Given the description of an element on the screen output the (x, y) to click on. 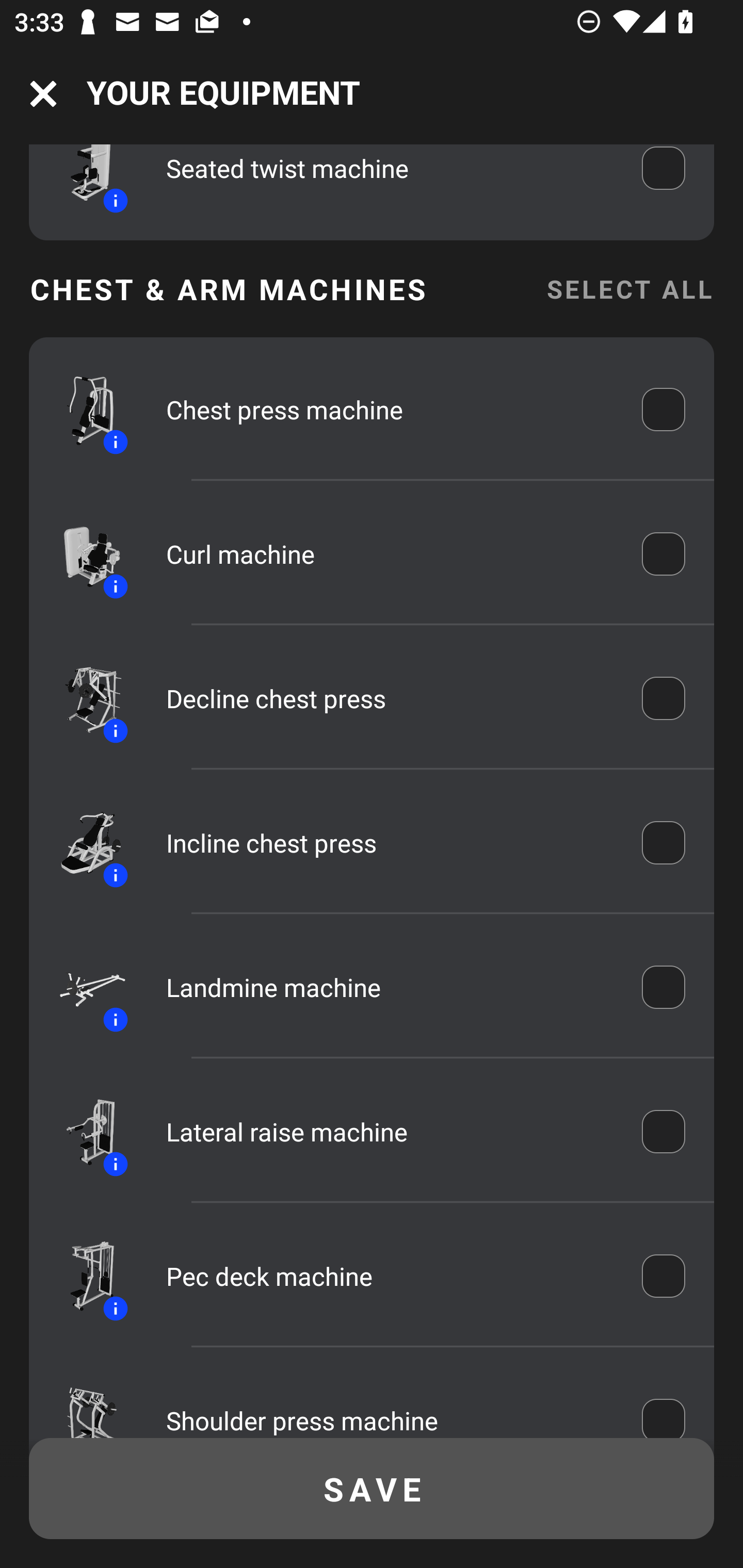
Navigation icon (43, 93)
Equipment icon Information icon (82, 183)
Seated twist machine (389, 177)
SELECT ALL (629, 289)
Equipment icon Information icon (82, 409)
Chest press machine (389, 409)
Equipment icon Information icon (82, 554)
Curl machine (389, 554)
Equipment icon Information icon (82, 698)
Decline chest press (389, 698)
Equipment icon Information icon (82, 842)
Incline chest press (389, 842)
Equipment icon Information icon (82, 986)
Landmine machine (389, 986)
Equipment icon Information icon (82, 1131)
Lateral raise machine (389, 1131)
Equipment icon Information icon (82, 1275)
Pec deck machine (389, 1275)
Equipment icon (82, 1401)
Shoulder press machine (389, 1406)
SAVE (371, 1488)
